Given the description of an element on the screen output the (x, y) to click on. 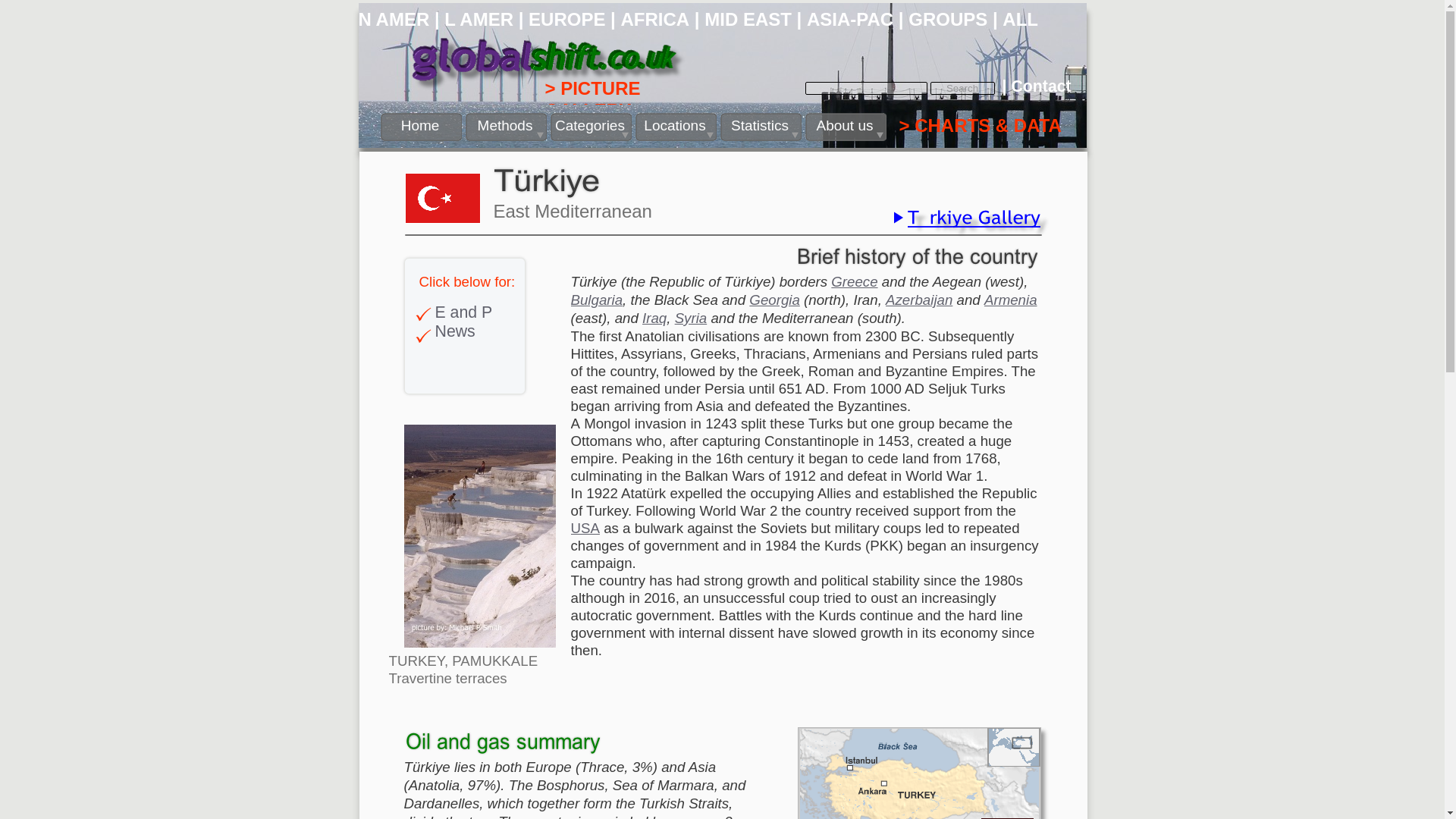
Syria (691, 317)
GROUPS (947, 19)
Search (962, 88)
Azerbaijan (918, 299)
ALL (1020, 19)
Armenia (1010, 299)
EUROPE (566, 19)
ASIA-PAC (849, 19)
Categories (590, 126)
Iraq (654, 317)
